Given the description of an element on the screen output the (x, y) to click on. 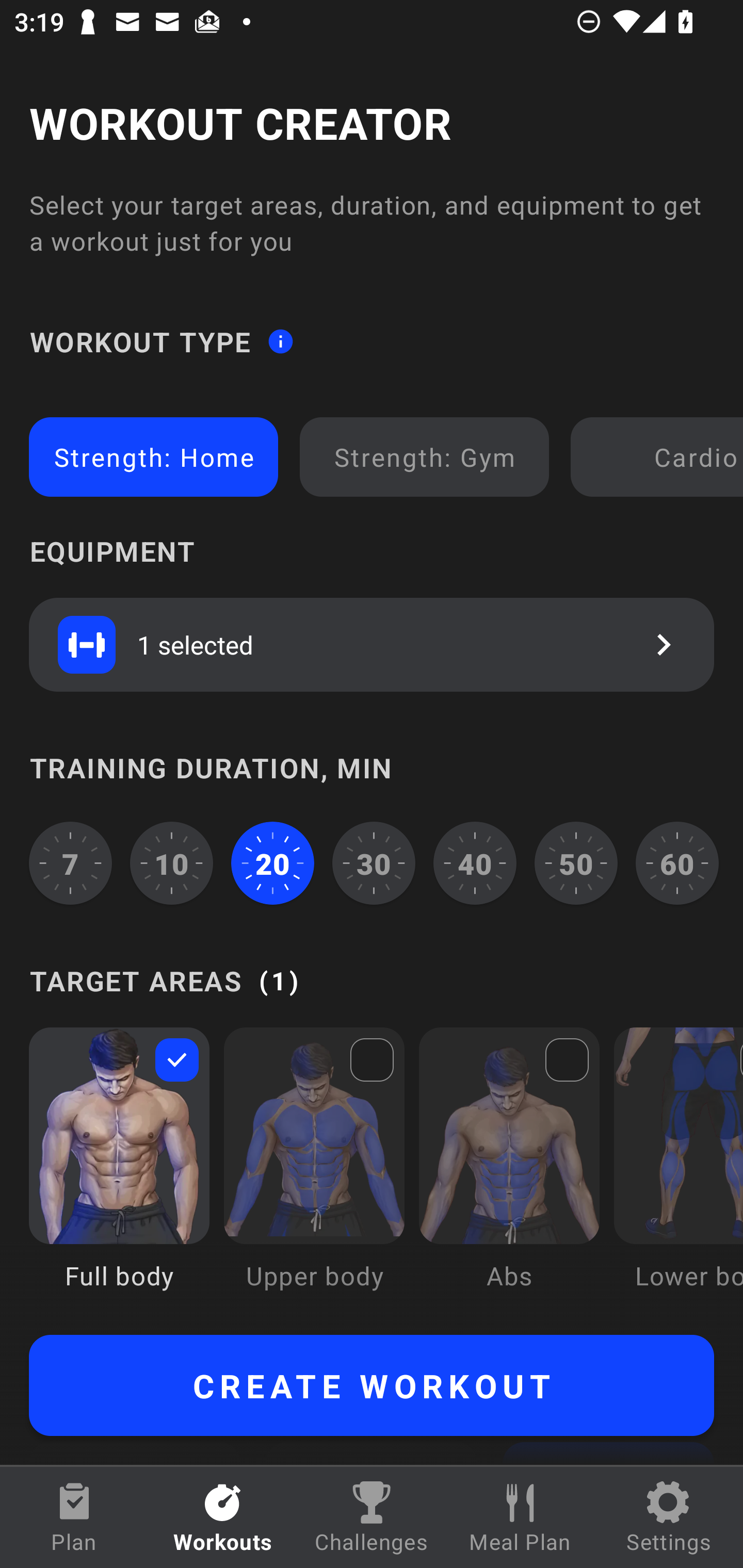
Workout type information button (280, 340)
Strength: Gym (423, 457)
Cardio (660, 457)
1 selected (371, 644)
7 (70, 862)
10 (171, 862)
20 (272, 862)
30 (373, 862)
40 (474, 862)
50 (575, 862)
60 (676, 862)
Upper body (313, 1172)
Abs (509, 1172)
Lower body (678, 1172)
CREATE WORKOUT (371, 1385)
 Plan  (74, 1517)
 Challenges  (371, 1517)
 Meal Plan  (519, 1517)
 Settings  (668, 1517)
